Given the description of an element on the screen output the (x, y) to click on. 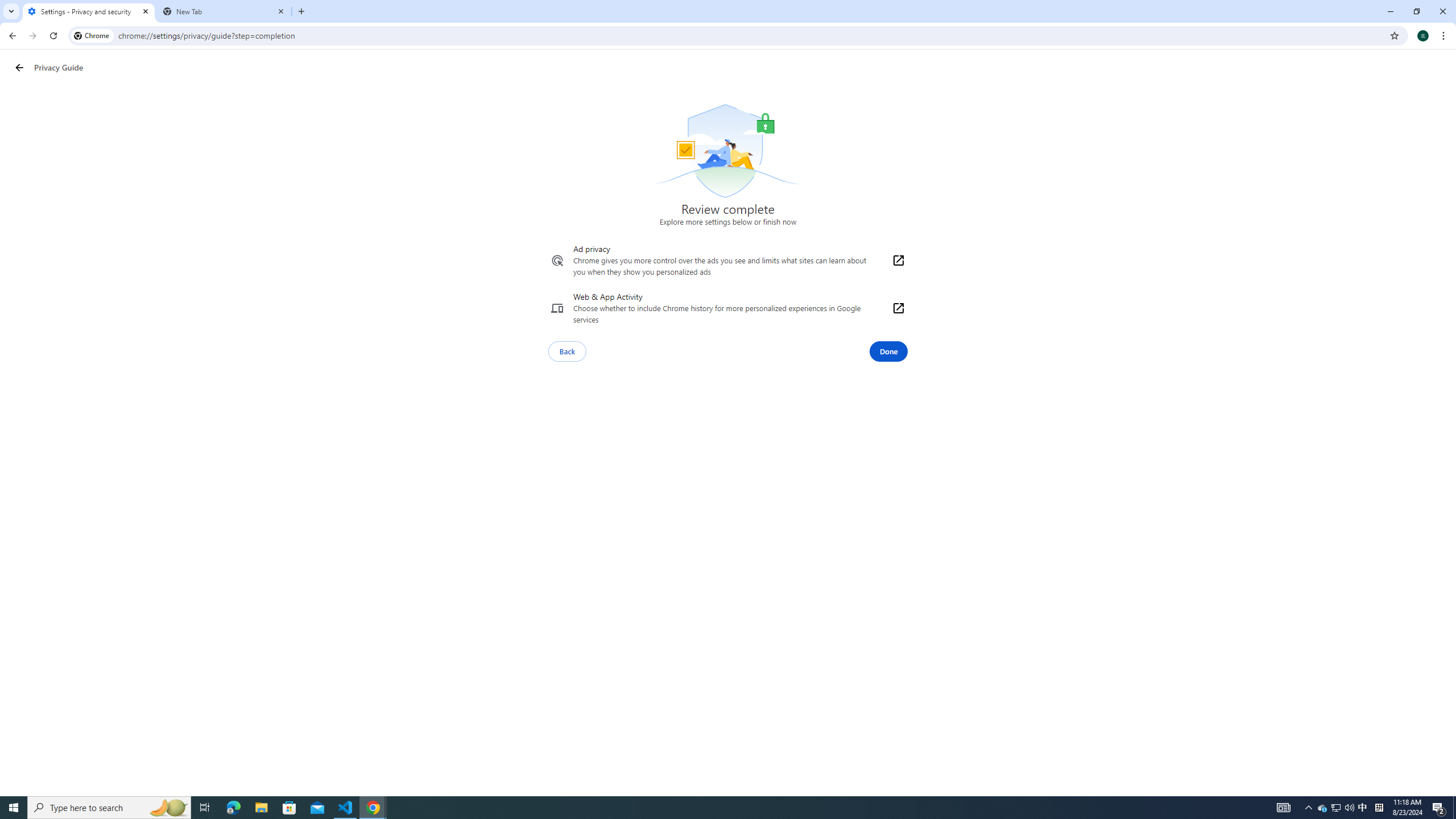
Done (888, 351)
Address and search bar (750, 35)
Forward (32, 35)
Minimize (1390, 11)
Chrome (1445, 35)
